Given the description of an element on the screen output the (x, y) to click on. 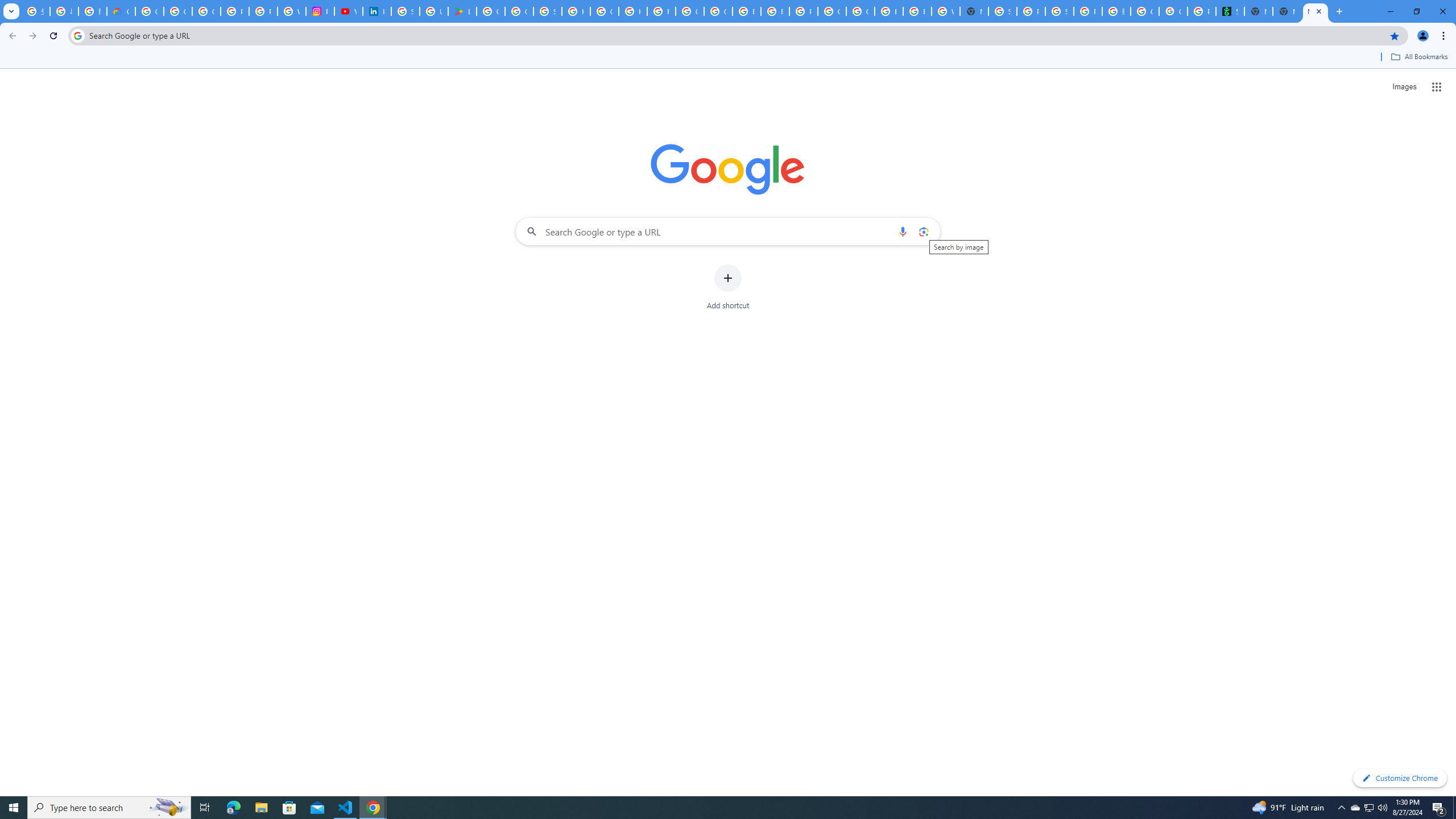
New Tab (1287, 11)
Browse Chrome as a guest - Computer - Google Chrome Help (888, 11)
Search for Images  (1403, 87)
Identity verification via Persona | LinkedIn Help (377, 11)
Search by image (922, 230)
Search icon (77, 35)
